Given the description of an element on the screen output the (x, y) to click on. 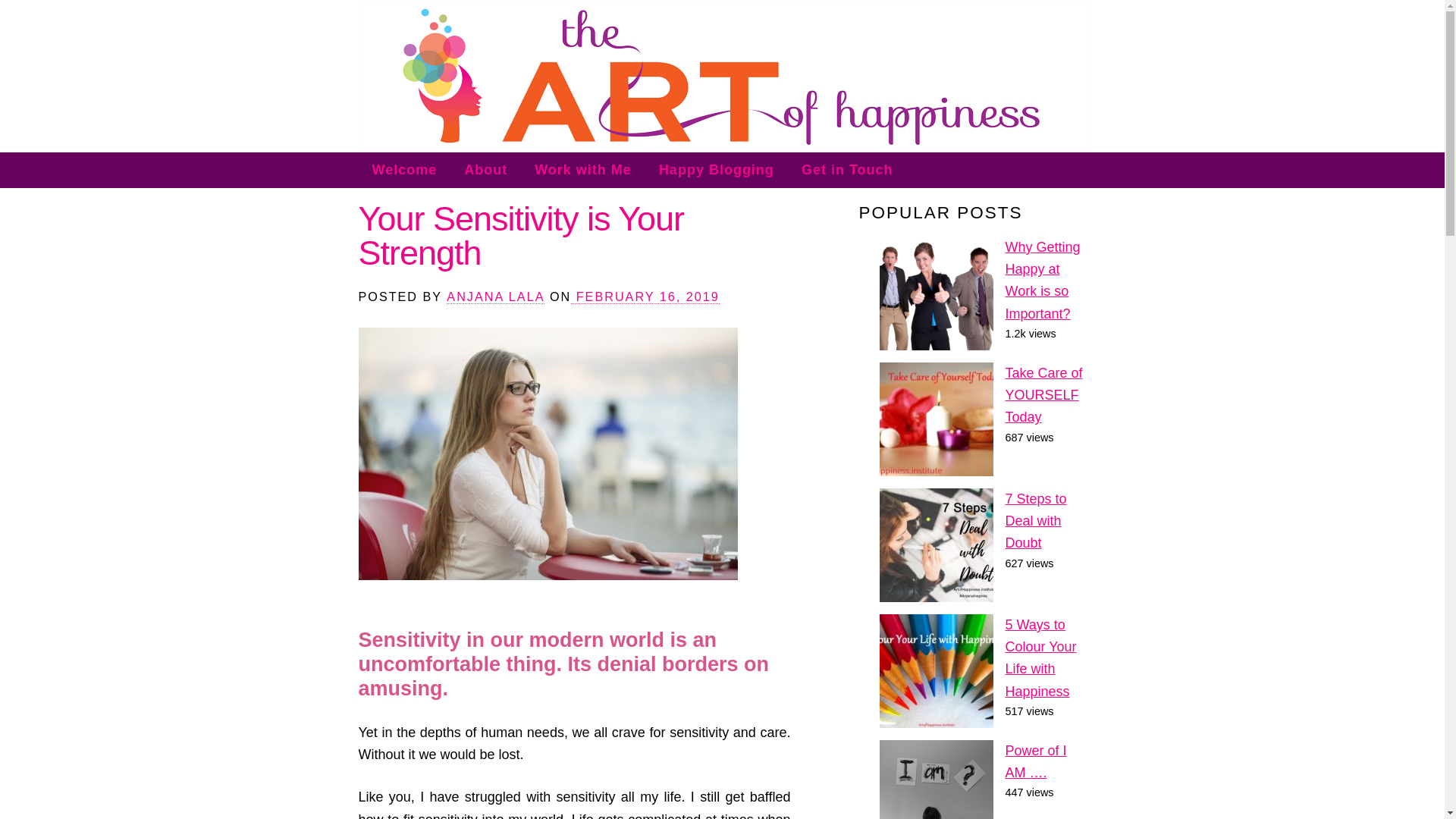
Get in Touch (847, 170)
Your Sensitivity is Your Strength (521, 235)
Take Care of YOURSELF Today (1044, 395)
Work with Me (583, 170)
Why Getting Happy at Work is so Important? (1043, 280)
7 Steps to Deal with Doubt (1036, 521)
ANJANA LALA (495, 296)
About (485, 170)
Welcome (403, 170)
Happy Blogging (716, 170)
Anjana Lala (495, 296)
 FEBRUARY 16, 2019 (644, 296)
